Given the description of an element on the screen output the (x, y) to click on. 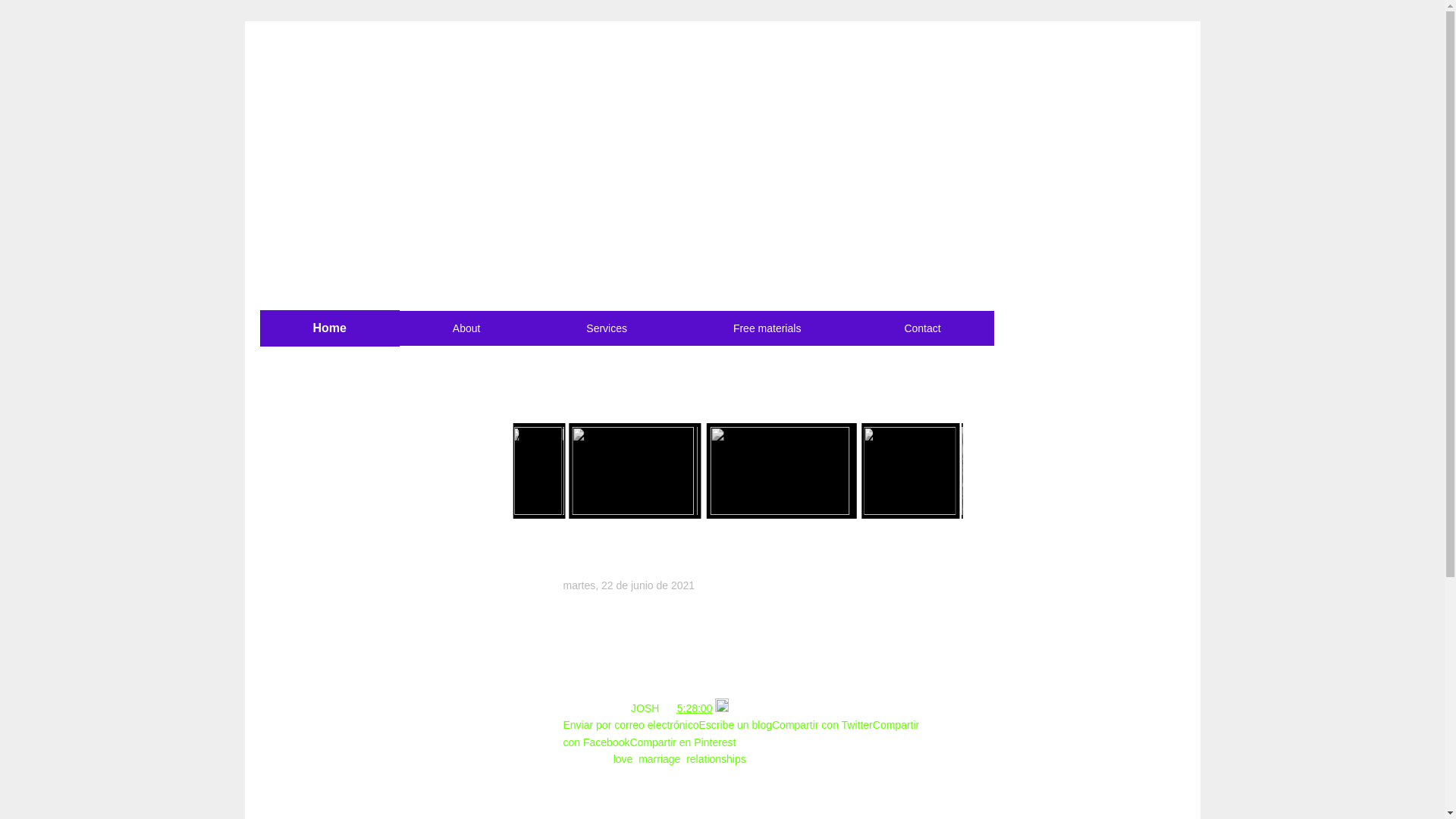
Compartir en Pinterest (681, 742)
love (622, 758)
Compartir con Facebook (740, 733)
Compartir en Pinterest (681, 742)
JOSH (646, 707)
Compartir con Twitter (821, 725)
relationships (715, 758)
marriage (659, 758)
permanent link (695, 707)
Escribe un blog (734, 725)
Compartir con Twitter (821, 725)
Entrada antigua (759, 817)
Eloquium languages (526, 110)
Entrada antigua (759, 817)
Escribe un blog (734, 725)
